Given the description of an element on the screen output the (x, y) to click on. 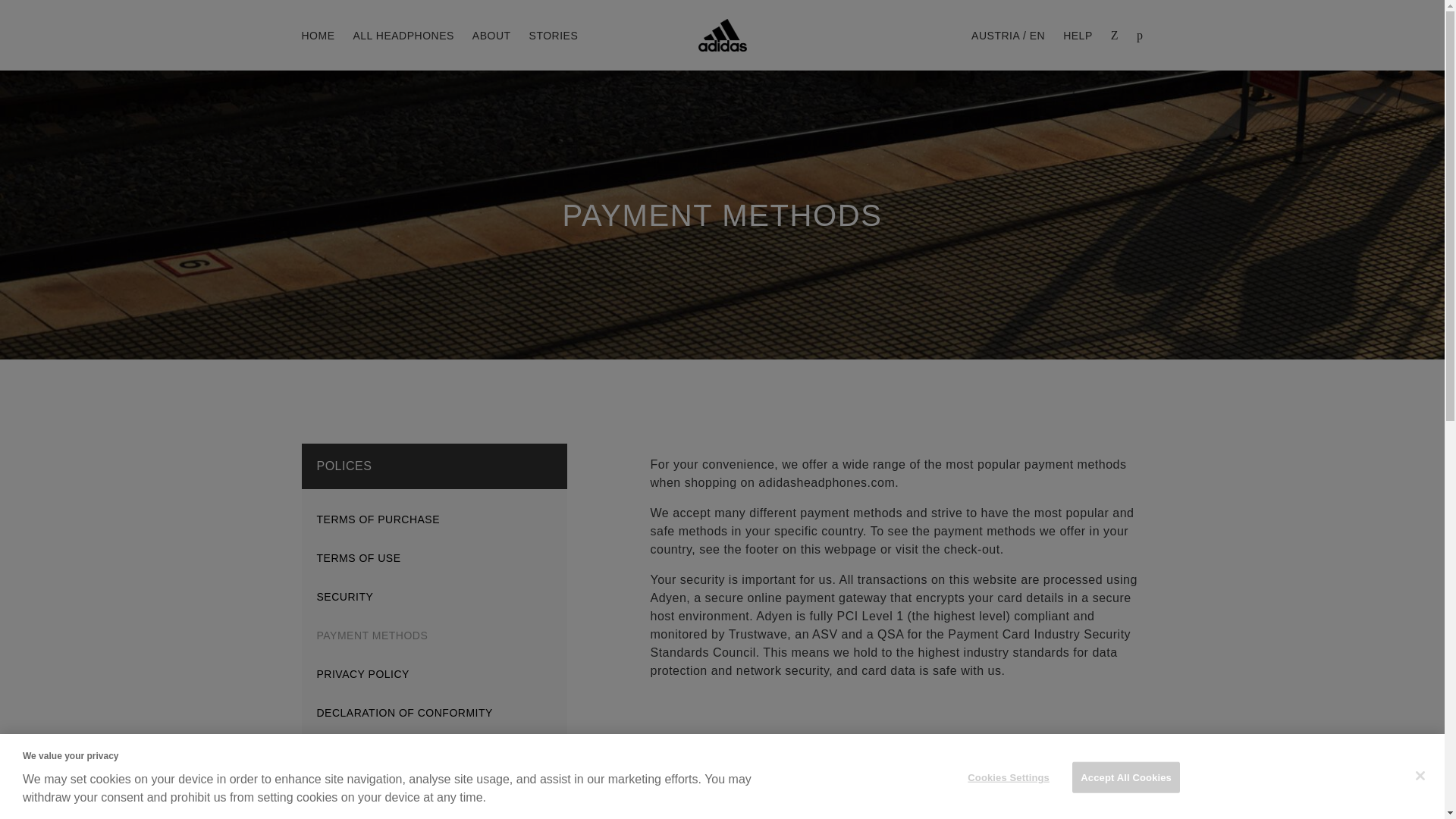
HELP (1077, 34)
Help (1077, 34)
ABOUT (491, 34)
AUSTRIA (567, 121)
DEUTSCH (734, 121)
STORIES (553, 34)
ALL HEADPHONES (403, 34)
HOME (317, 34)
CONFIRM (888, 121)
